Given the description of an element on the screen output the (x, y) to click on. 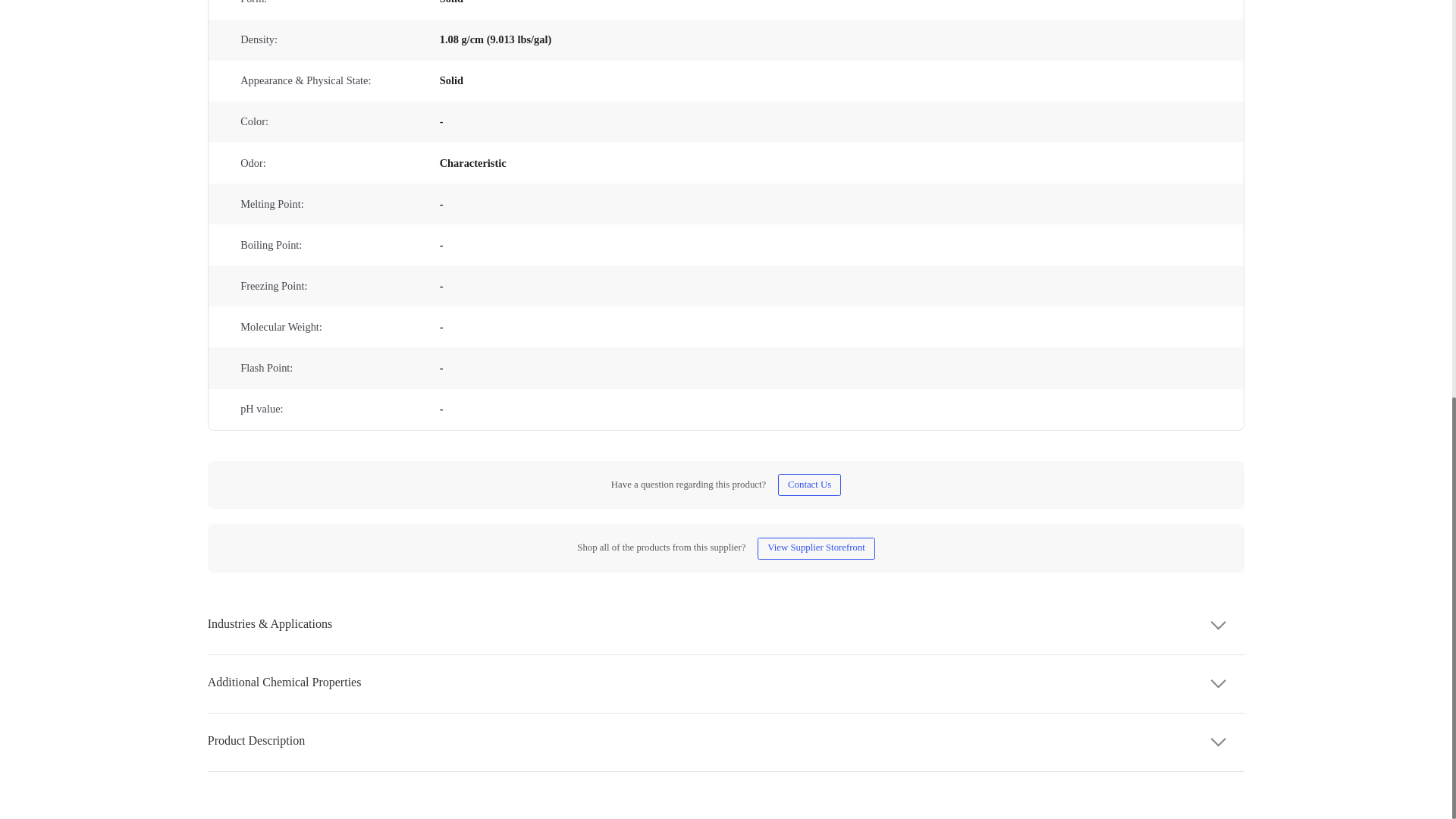
Product Description (726, 741)
Contact Us (809, 485)
View Supplier Storefront (816, 548)
Additional Chemical Properties (726, 682)
